Given the description of an element on the screen output the (x, y) to click on. 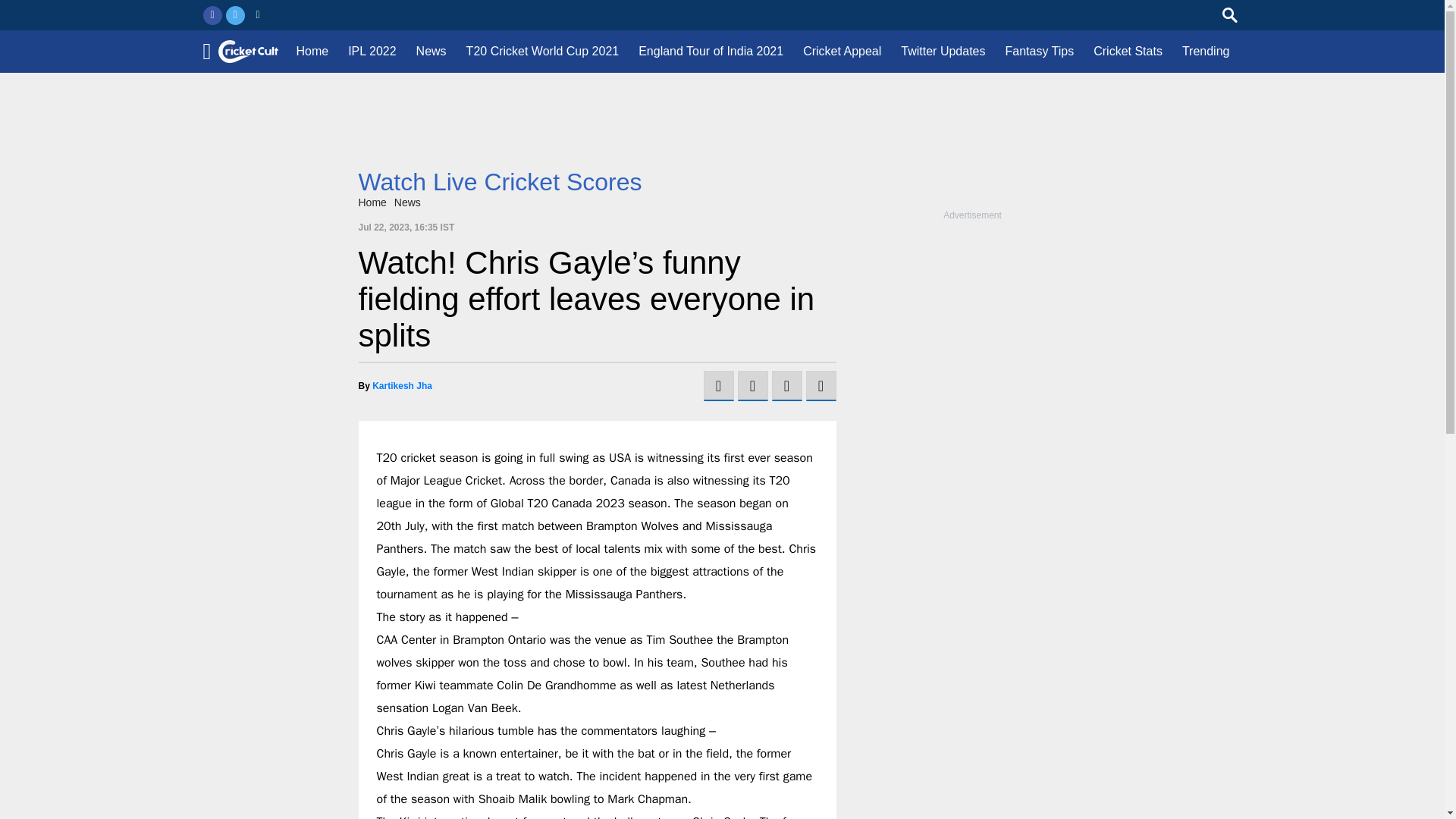
Rechercher (1229, 15)
Home (311, 51)
3rd party ad content (722, 134)
T20 Cricket World Cup 2021 (542, 51)
Rechercher (1229, 15)
Rechercher (1229, 15)
News (407, 202)
Home (371, 202)
Facebook (212, 15)
Instagram (257, 15)
